Given the description of an element on the screen output the (x, y) to click on. 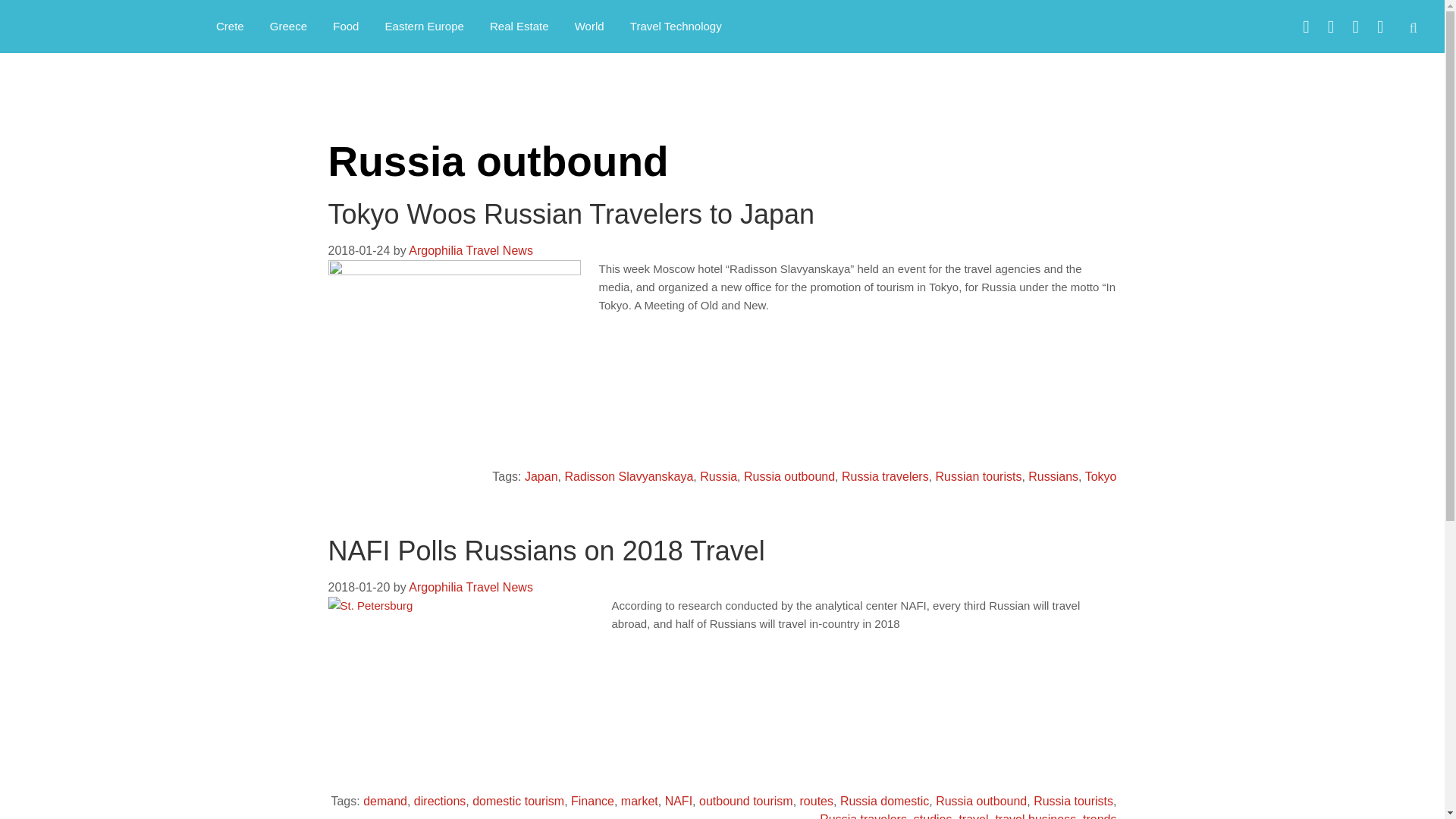
Russians (1052, 476)
Russia travelers (863, 816)
Finance (592, 800)
routes (815, 800)
market (639, 800)
Russia tourists (1073, 800)
Japan (540, 476)
studies (933, 816)
Greece (288, 26)
Russian tourists (979, 476)
NAFI Polls Russians on 2018 Travel (545, 550)
Russia domestic (884, 800)
Crete (230, 26)
Real Estate (519, 26)
World (589, 26)
